Given the description of an element on the screen output the (x, y) to click on. 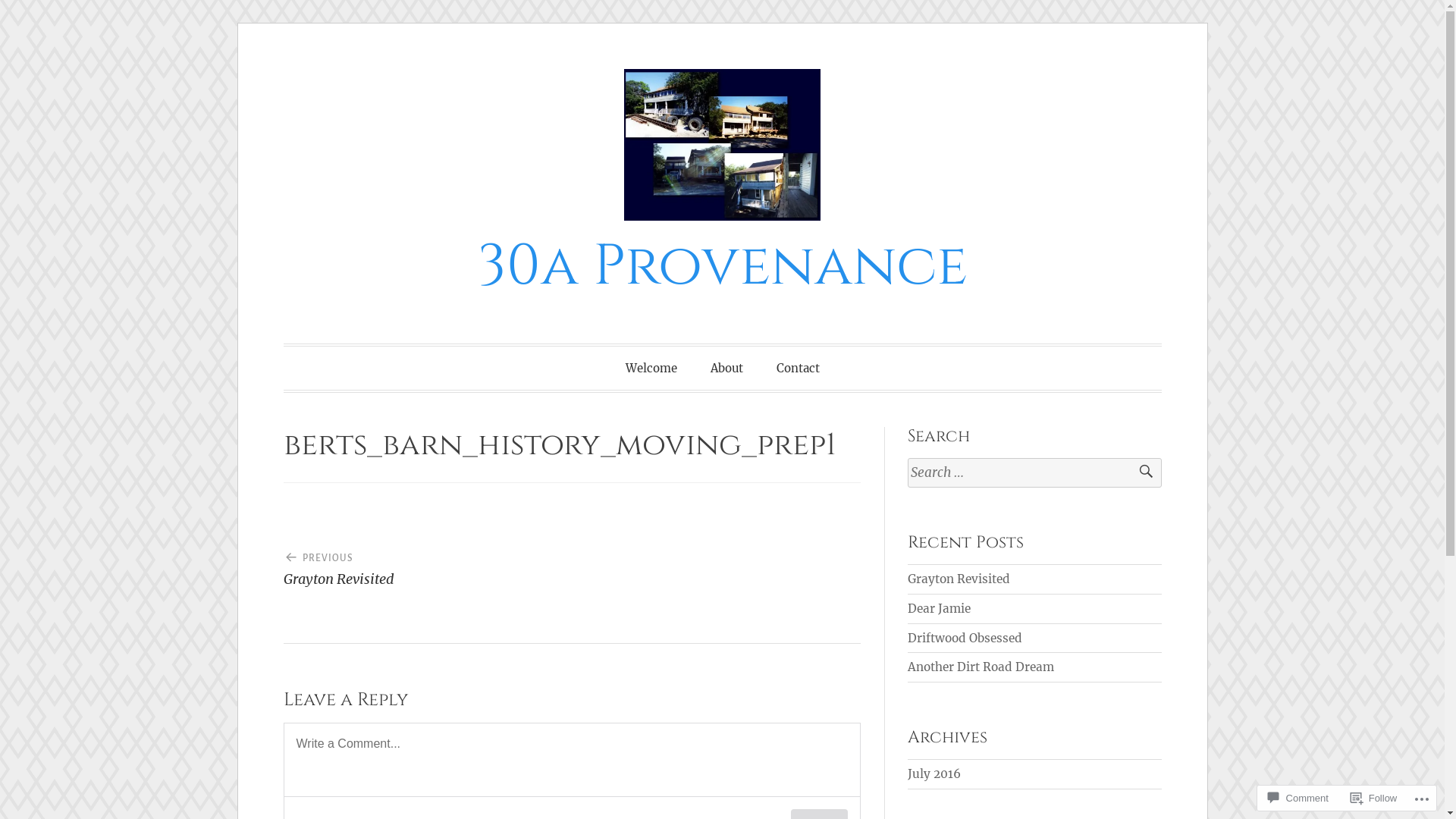
Driftwood Obsessed Element type: text (964, 637)
Comment Element type: text (1297, 797)
Dear Jamie Element type: text (938, 608)
Grayton Revisited Element type: text (958, 578)
Contact Element type: text (797, 367)
PREVIOUS
Grayton Revisited Element type: text (427, 562)
Follow Element type: text (1373, 797)
30a Provenance Element type: text (722, 266)
July 2016 Element type: text (933, 773)
About Element type: text (725, 367)
Another Dirt Road Dream Element type: text (980, 666)
Welcome Element type: text (650, 367)
Search Element type: text (1138, 472)
